Given the description of an element on the screen output the (x, y) to click on. 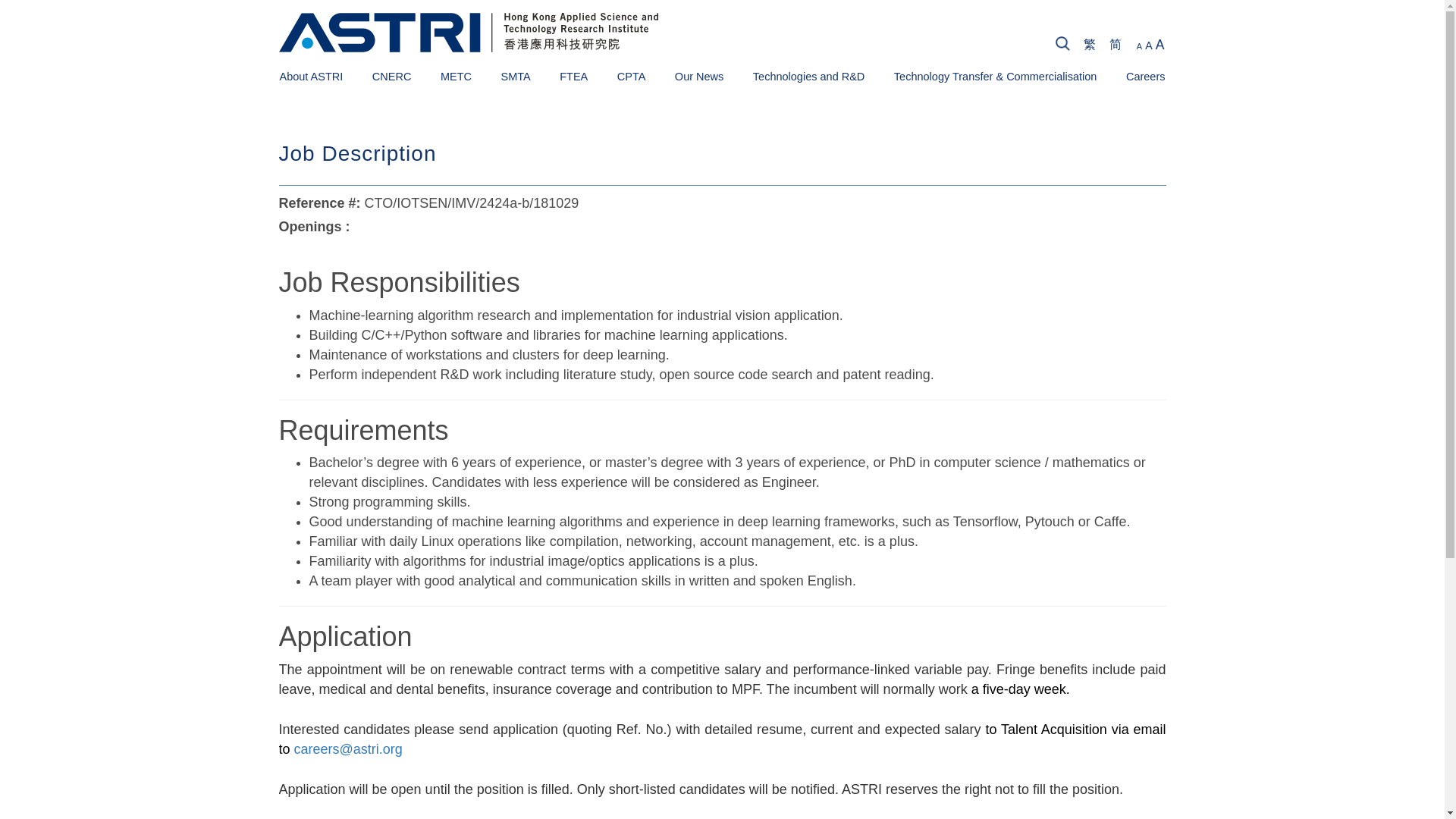
CNERC (392, 76)
Search (1348, 45)
A (1138, 45)
METC (456, 76)
About ASTRI (310, 76)
CPTA (631, 76)
Our News (699, 76)
SMTA (514, 76)
FTEA (573, 76)
